Given the description of an element on the screen output the (x, y) to click on. 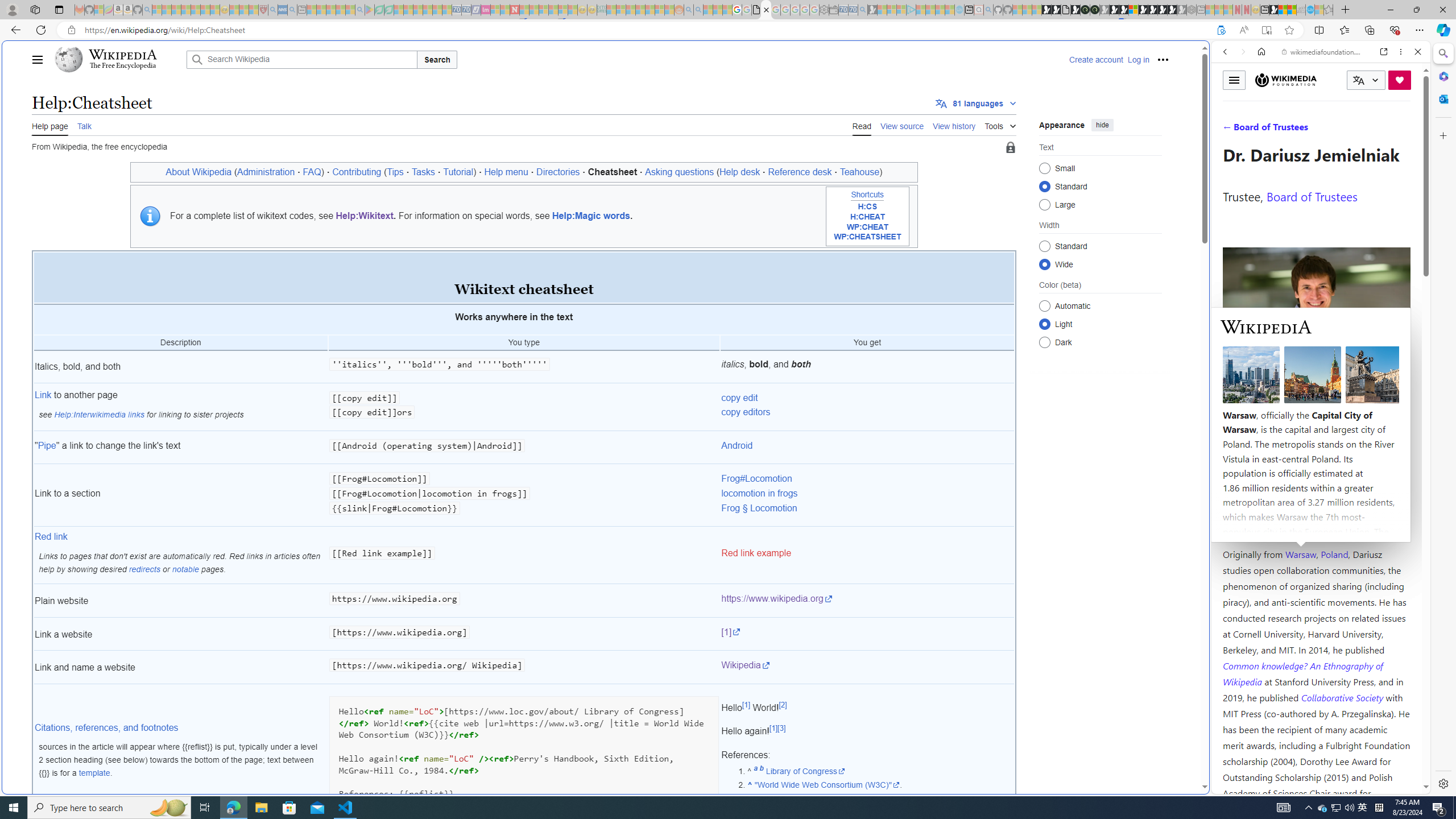
Teahouse) (861, 172)
Large (1044, 204)
Kinda Frugal - MSN - Sleeping (649, 9)
Collaborative Society  (1343, 697)
Red link example (866, 556)
WP:CHEAT (866, 226)
